Given the description of an element on the screen output the (x, y) to click on. 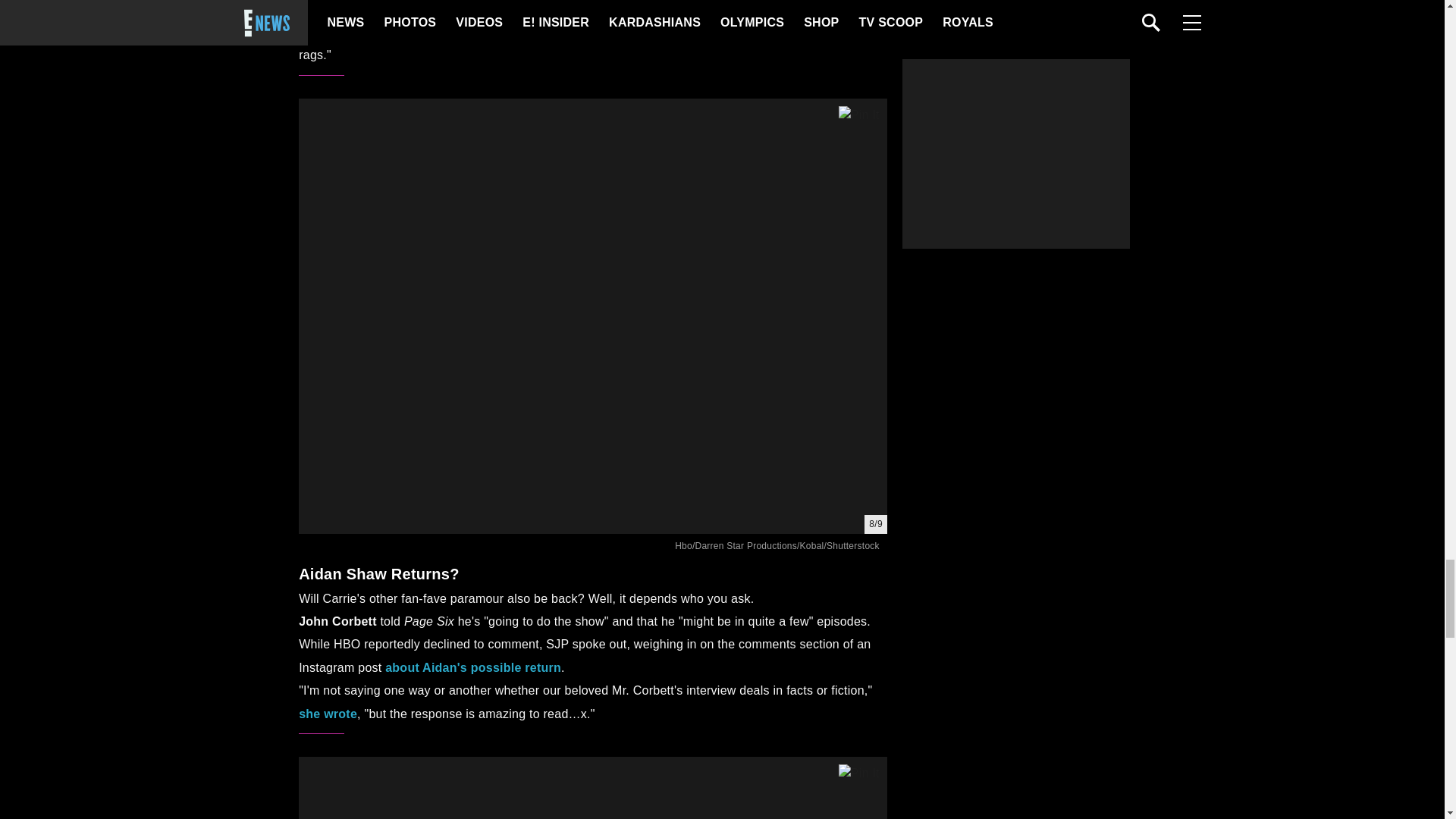
suggested that reports of him not returning were inaccurate (561, 19)
she wrote (327, 713)
about Aidan's possible return (472, 667)
